Given the description of an element on the screen output the (x, y) to click on. 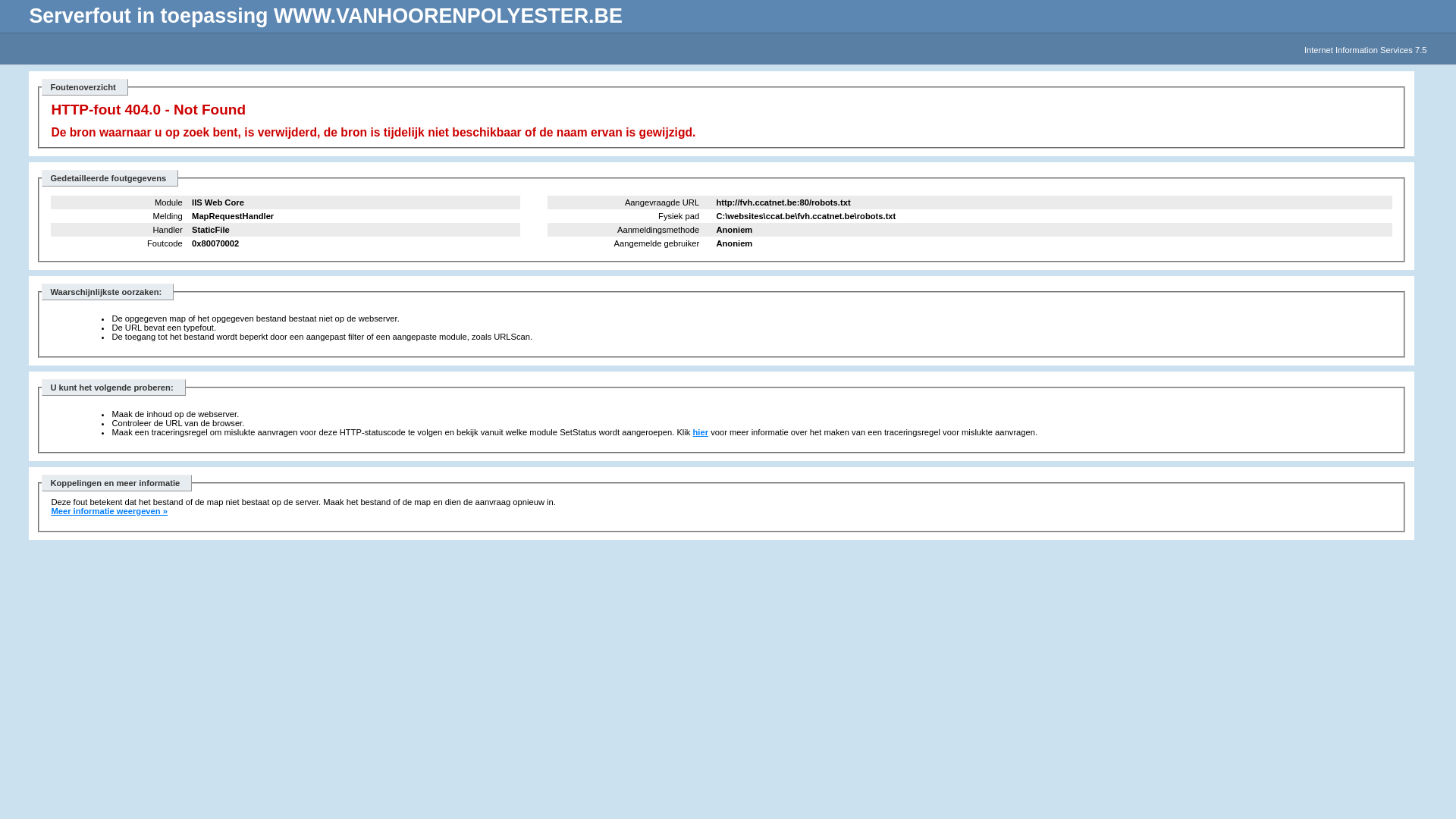
hier Element type: text (701, 431)
